Given the description of an element on the screen output the (x, y) to click on. 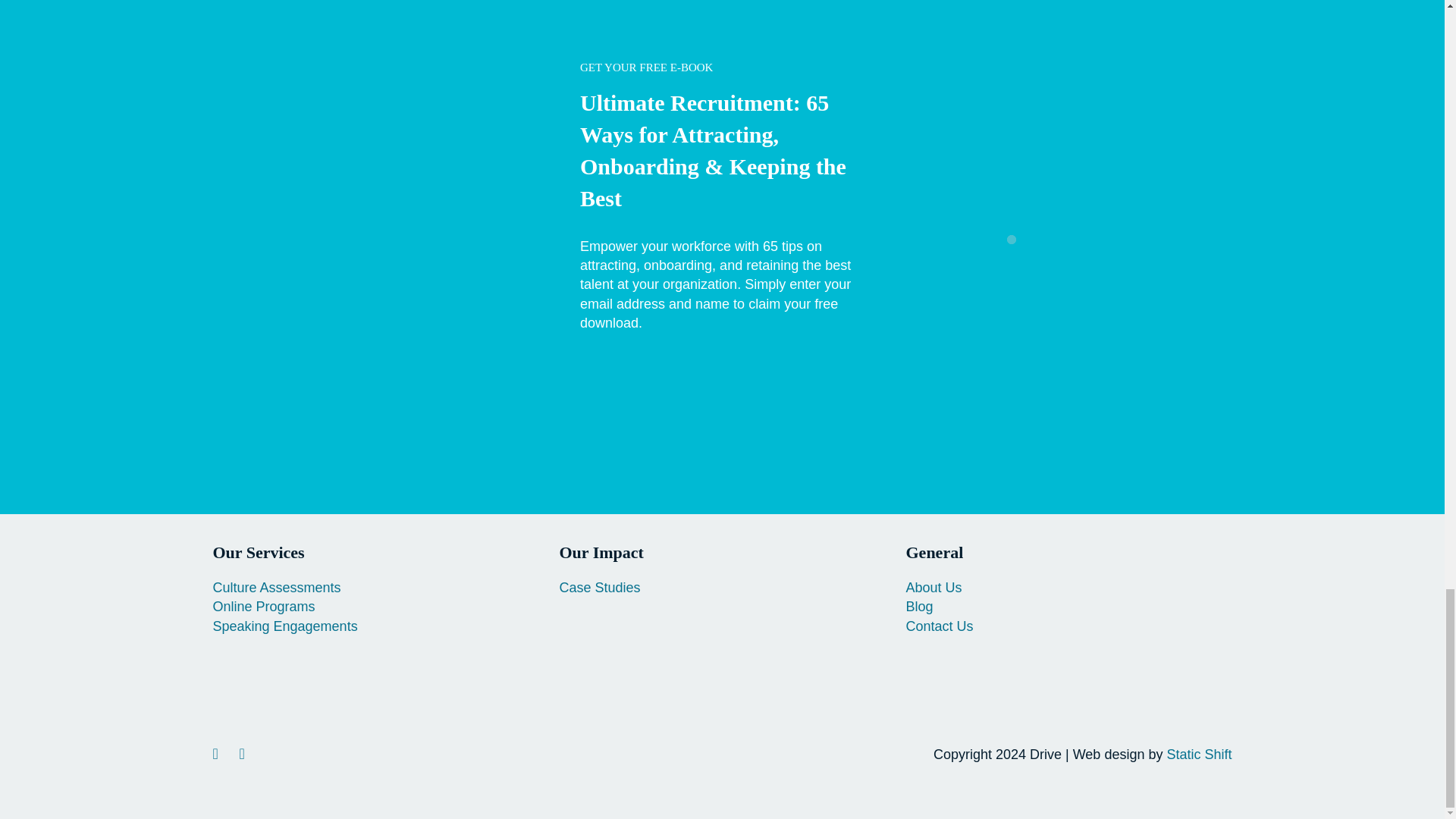
Culture Assessments (276, 587)
Online Programs (263, 606)
Speaking Engagements (284, 626)
Case Studies (599, 587)
Static Shift (1198, 754)
Blog (919, 606)
About Us (932, 587)
Contact Us (938, 626)
